Given the description of an element on the screen output the (x, y) to click on. 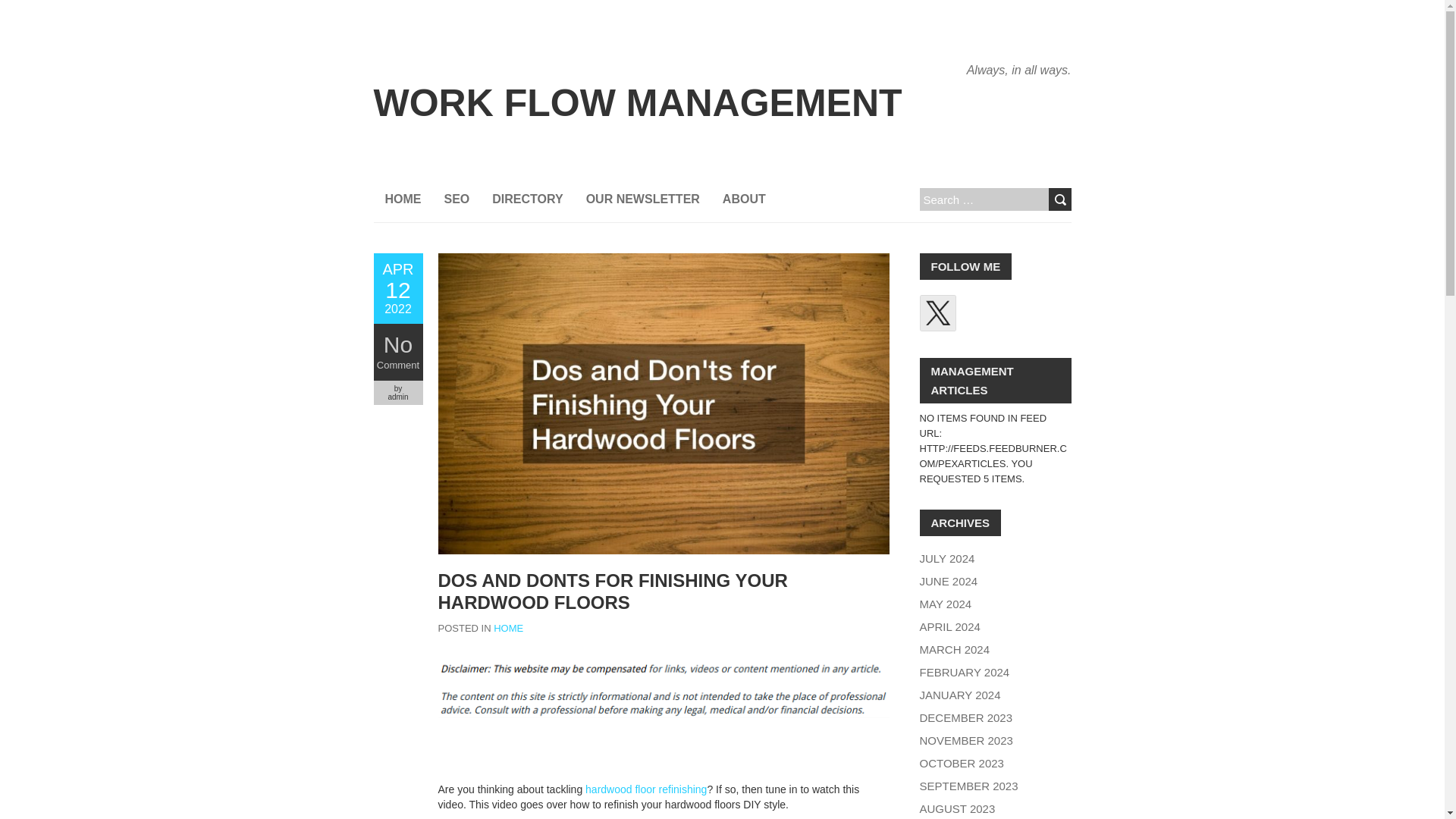
Follow us on Twitter (936, 312)
Dos and Donts for Finishing Your Hardwood Floors (397, 288)
HOME (402, 198)
SEPTEMBER 2023 (967, 785)
Search (1059, 199)
DOS AND DONTS FOR FINISHING YOUR HARDWOOD FLOORS (612, 591)
WORK FLOW MANAGEMENT (636, 102)
Search (1059, 199)
APRIL 2024 (948, 626)
Comment (397, 365)
HOME (507, 627)
OUR NEWSLETTER (643, 198)
JANUARY 2024 (397, 288)
JULY 2024 (959, 694)
